Given the description of an element on the screen output the (x, y) to click on. 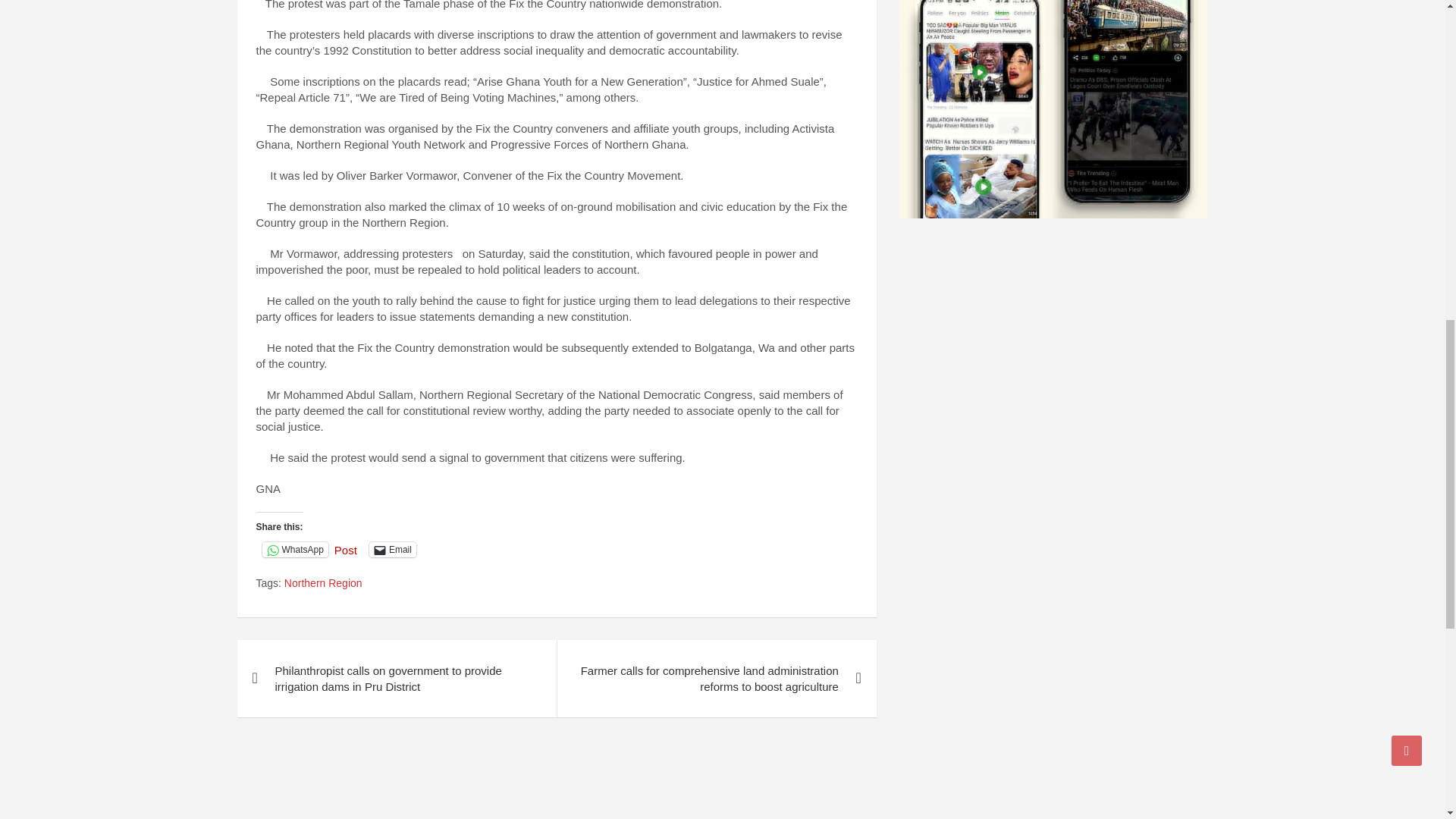
Advertisement (556, 779)
Click to share on WhatsApp (295, 549)
Click to email a link to a friend (392, 549)
